Given the description of an element on the screen output the (x, y) to click on. 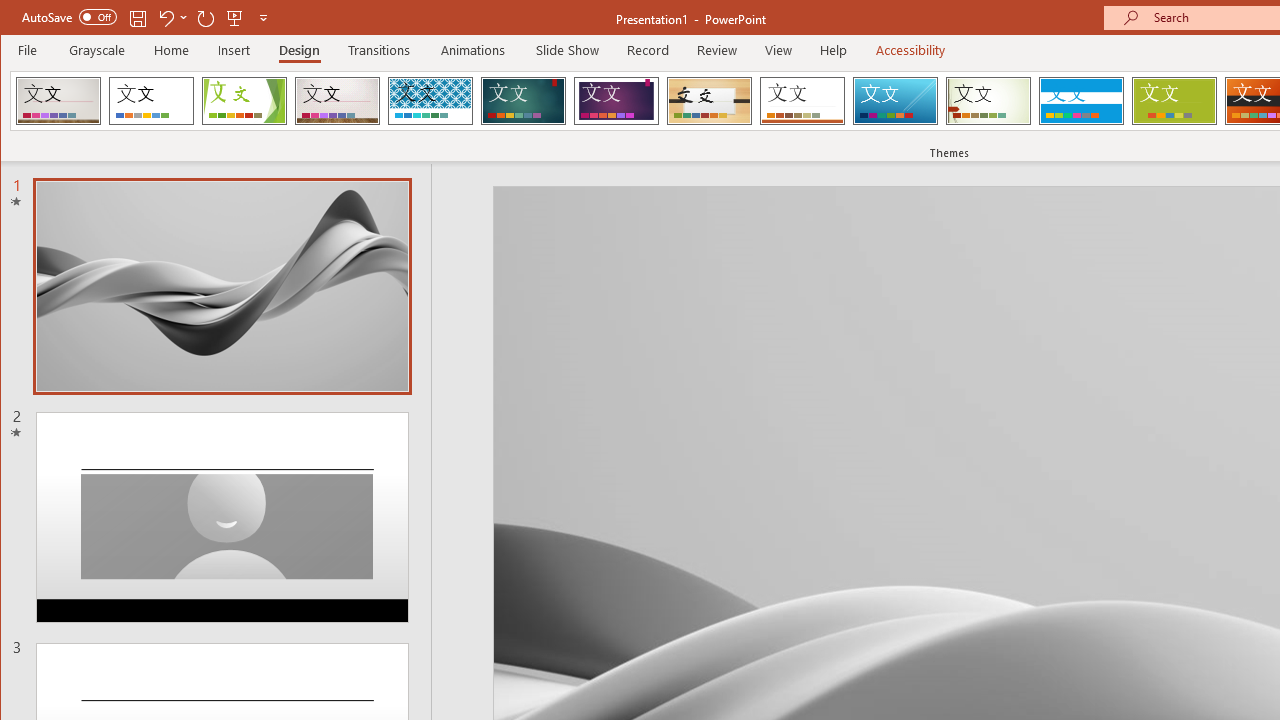
Basis (1174, 100)
Slice (895, 100)
Berlin (57, 100)
